Given the description of an element on the screen output the (x, y) to click on. 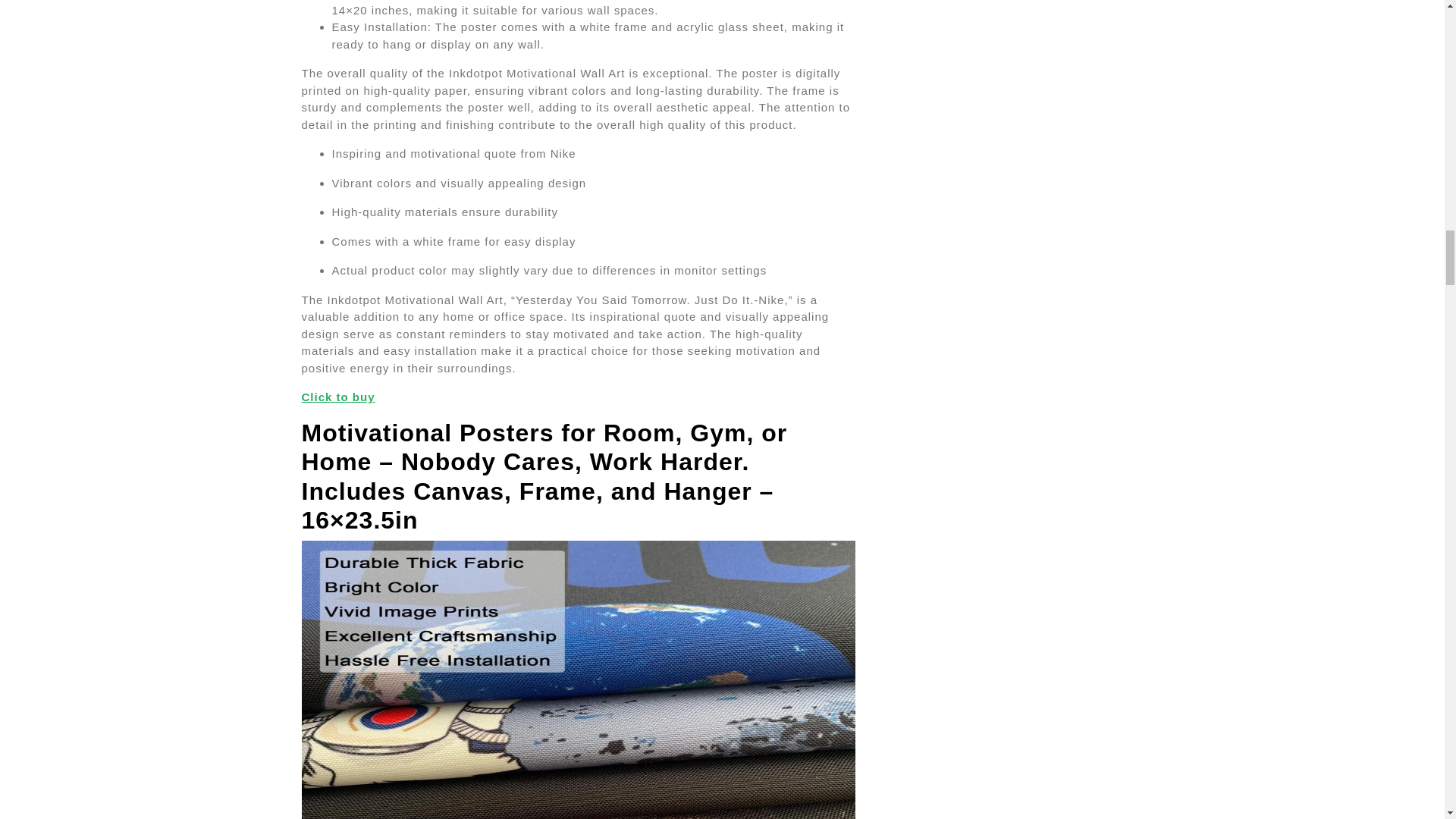
Click to buy (338, 396)
